Given the description of an element on the screen output the (x, y) to click on. 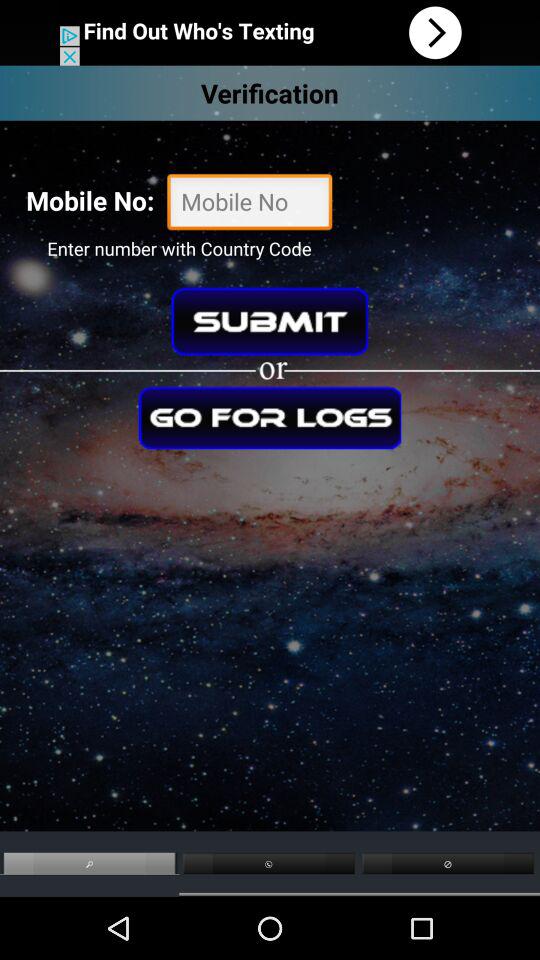
get logs (269, 417)
